Given the description of an element on the screen output the (x, y) to click on. 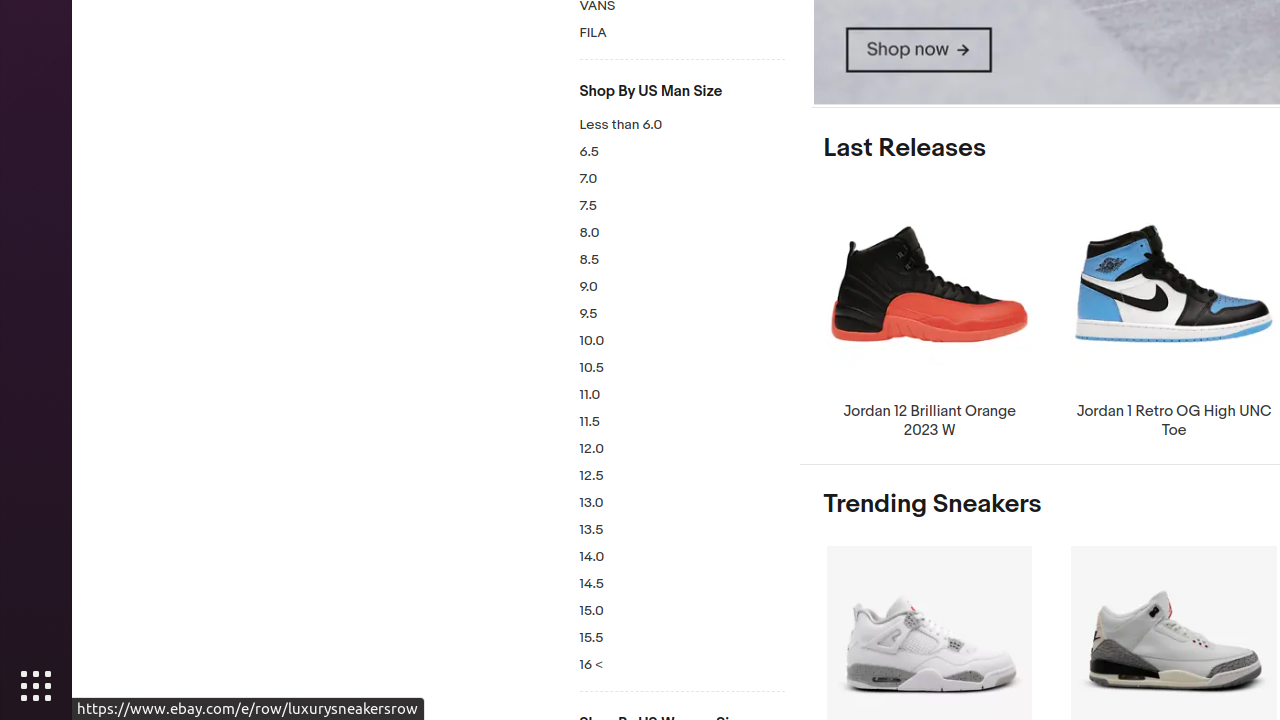
12.5 Element type: link (682, 476)
11.5 Element type: link (682, 422)
13.5 Element type: link (682, 530)
12.0 Element type: link (682, 449)
16 < Element type: link (682, 665)
